Given the description of an element on the screen output the (x, y) to click on. 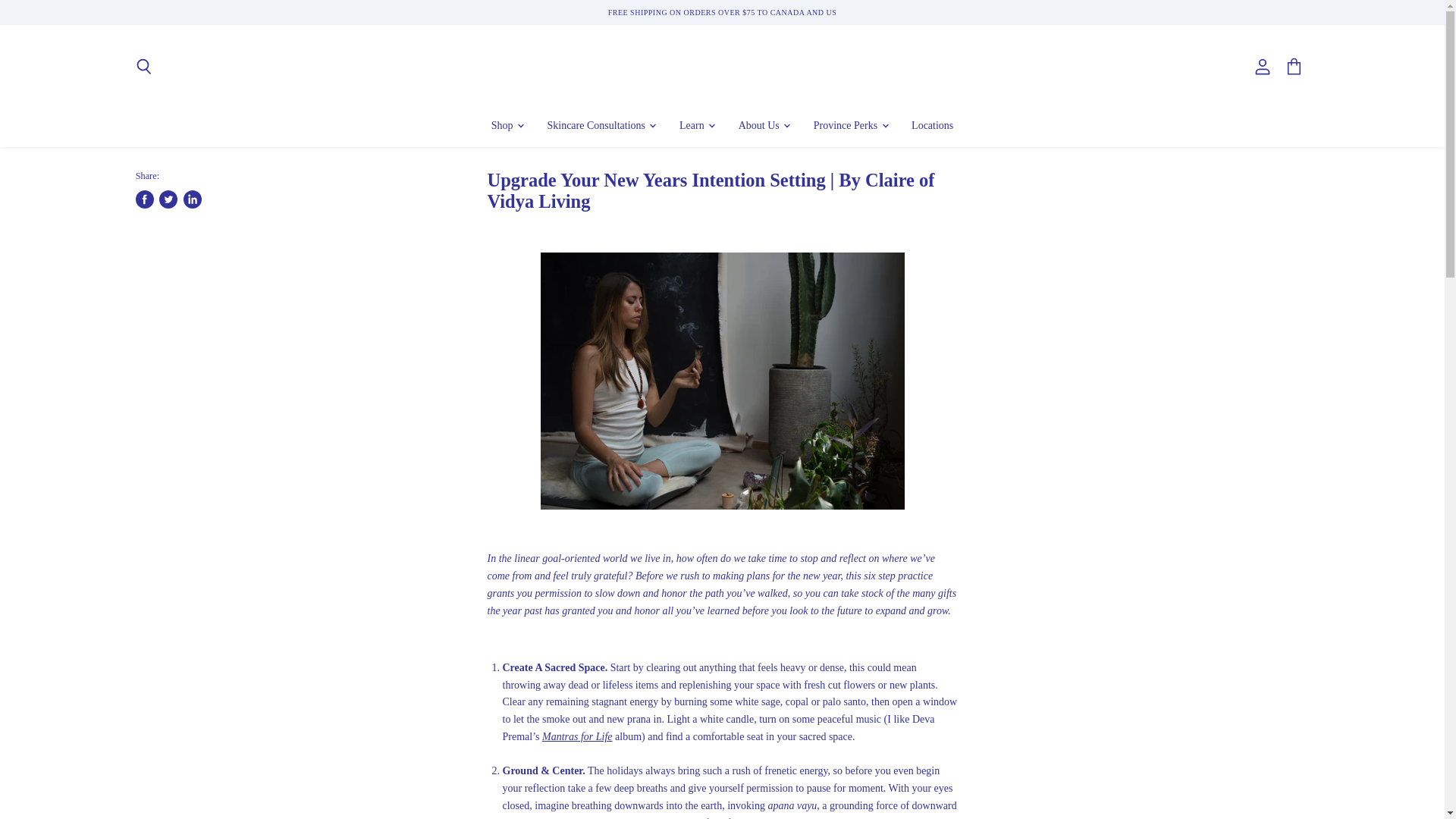
Shop (506, 124)
View account (1262, 67)
Search (143, 67)
